Given the description of an element on the screen output the (x, y) to click on. 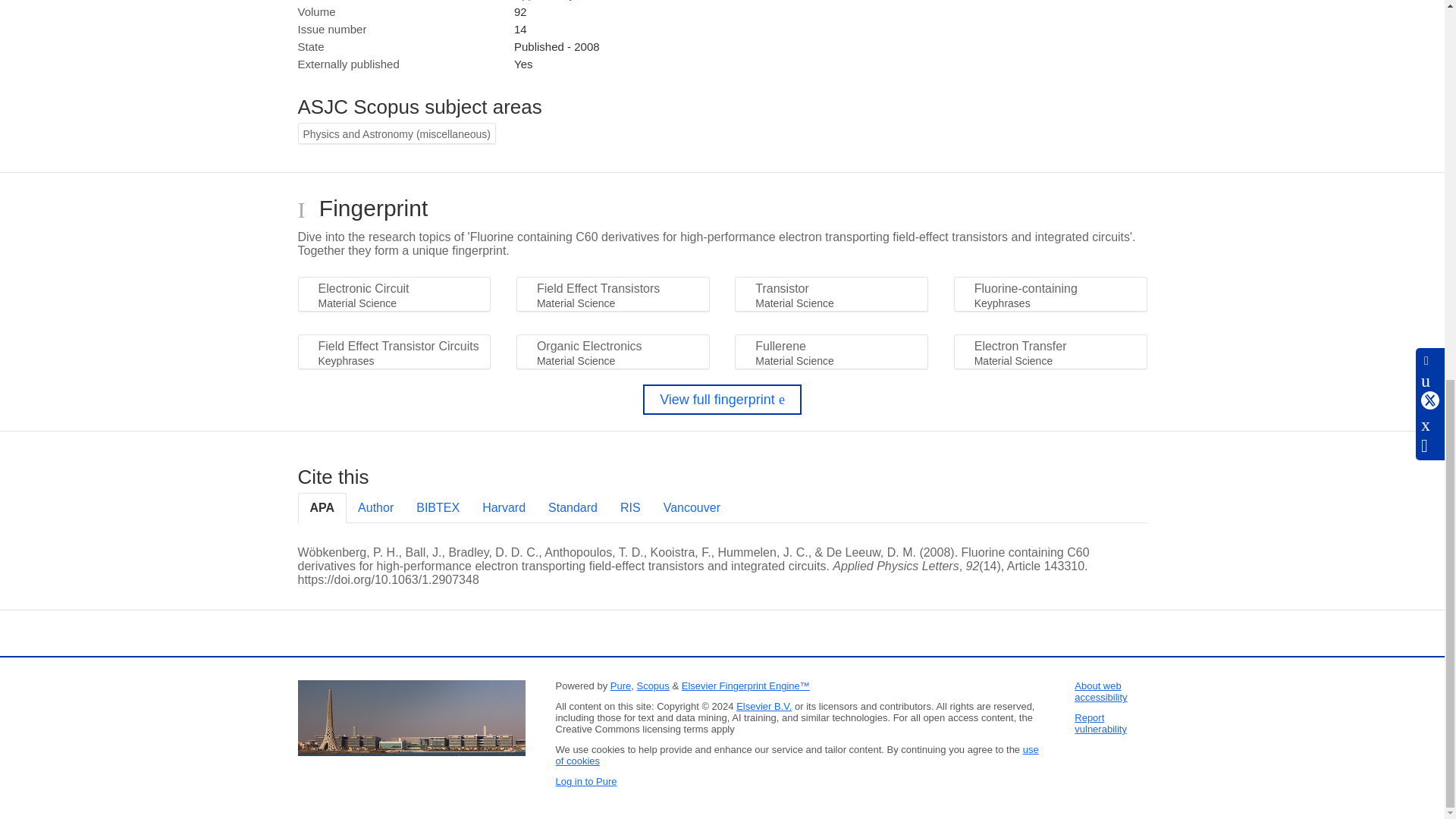
View full fingerprint (722, 399)
Scopus (652, 685)
Pure (620, 685)
Elsevier B.V. (764, 706)
